Given the description of an element on the screen output the (x, y) to click on. 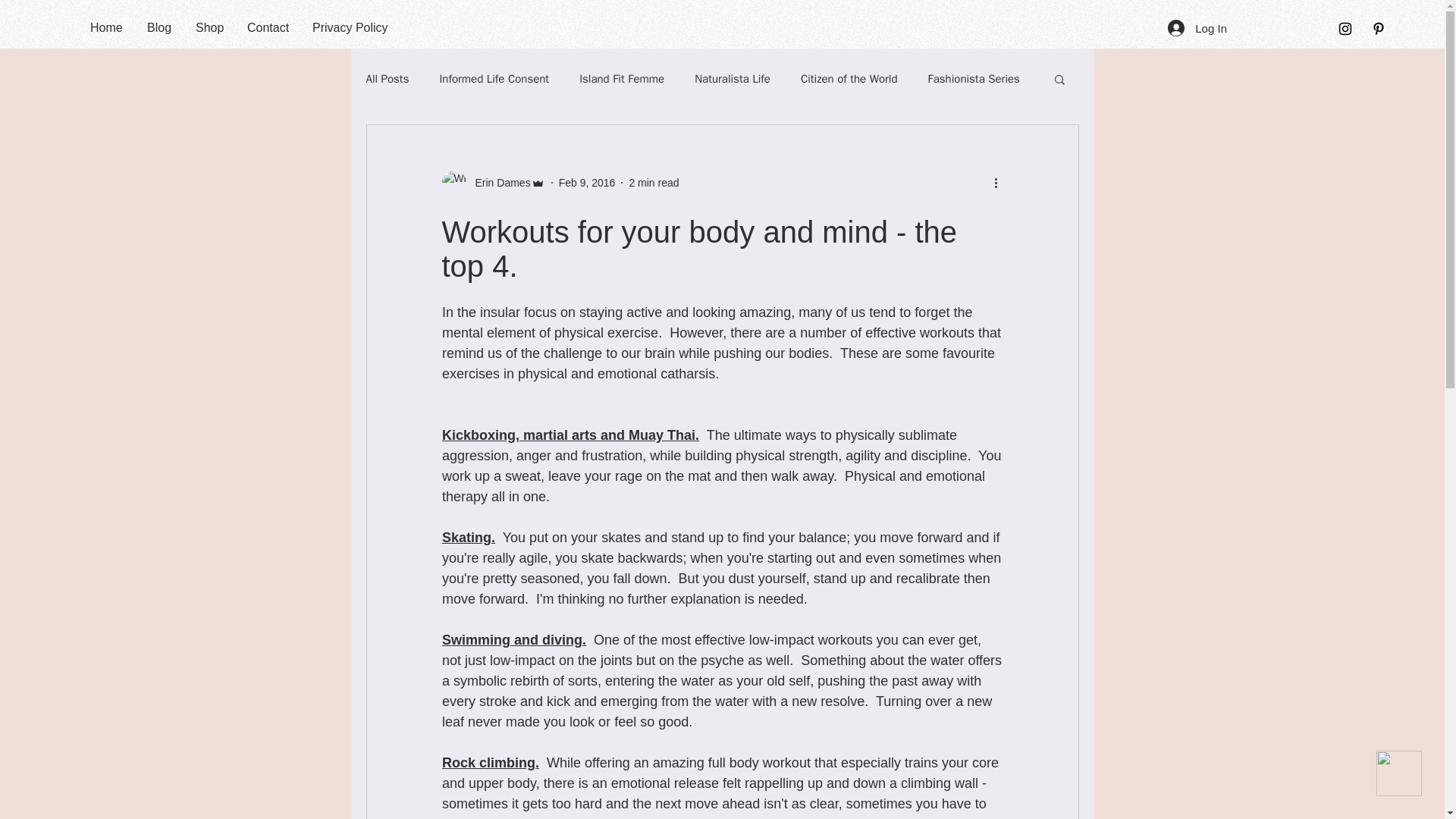
Island Fit Femme (621, 78)
Contact (268, 27)
Home (106, 27)
Informed Life Consent (493, 78)
Blog (159, 27)
Feb 9, 2016 (587, 182)
All Posts (387, 78)
Fashionista Series (974, 78)
Privacy Policy (347, 27)
Erin Dames (497, 182)
